Given the description of an element on the screen output the (x, y) to click on. 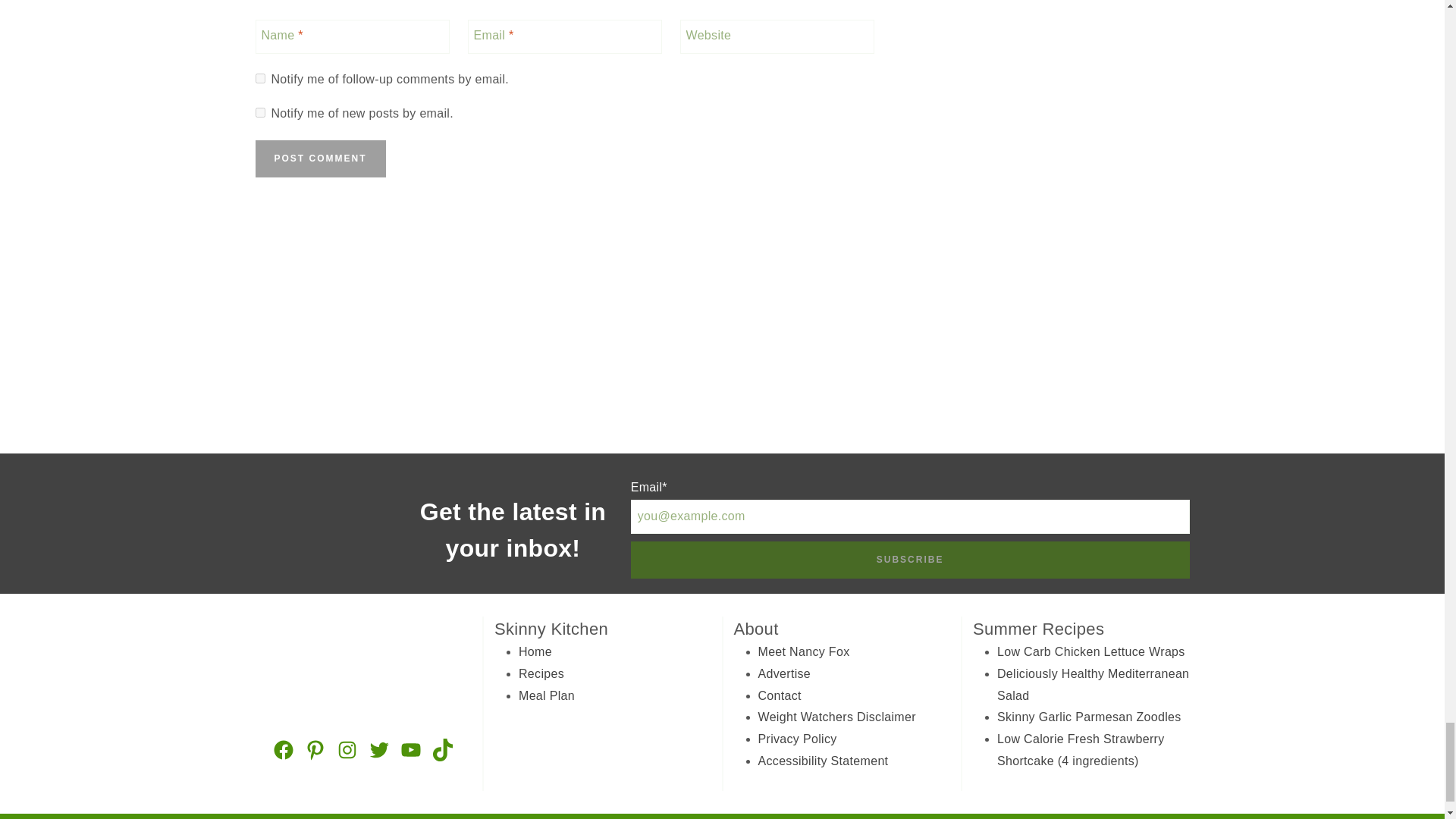
subscribe (259, 112)
subscribe (259, 78)
Post Comment (319, 158)
Subscribe (909, 559)
